Given the description of an element on the screen output the (x, y) to click on. 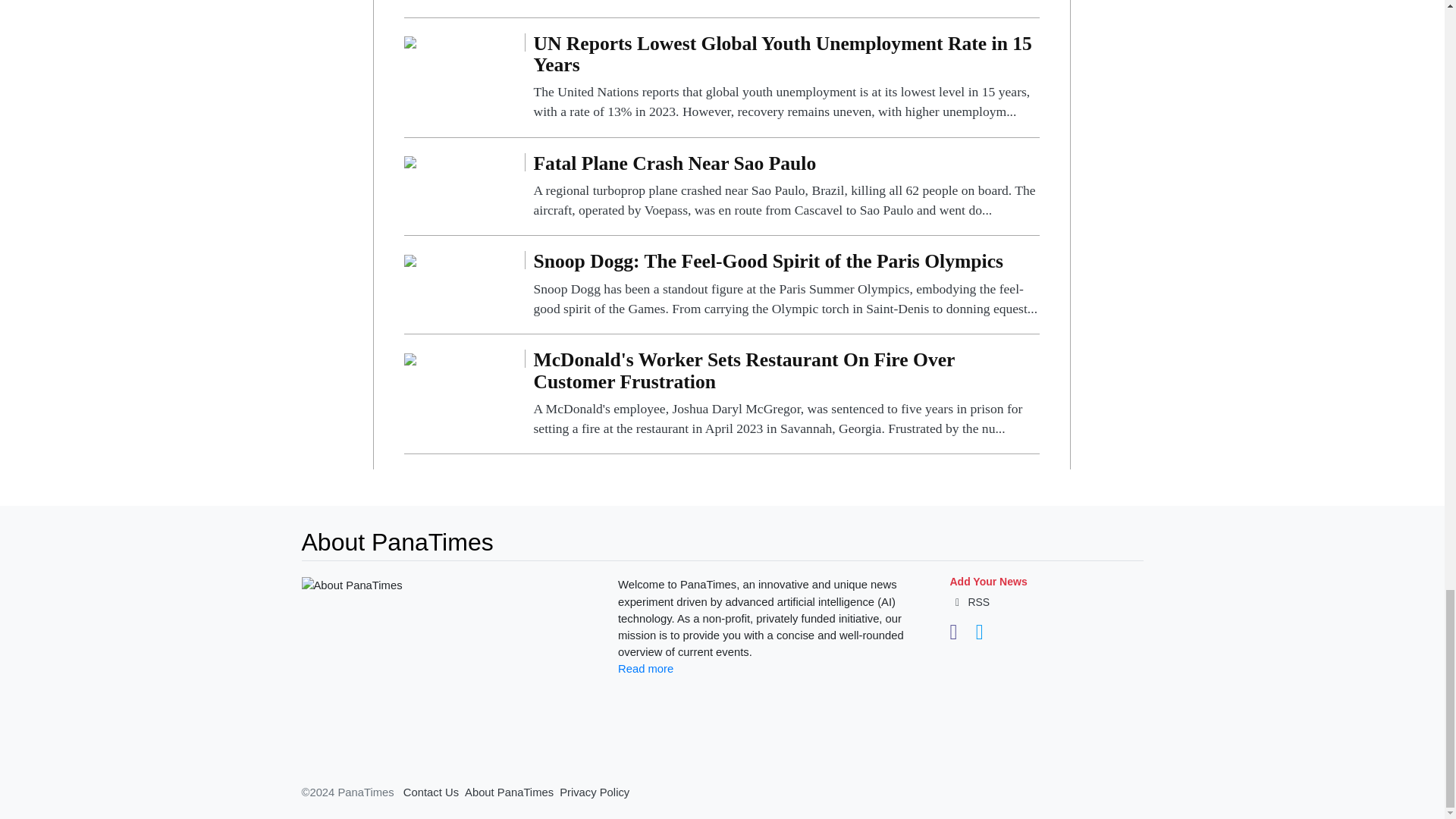
Fatal Plane Crash Near Sao Paulo (410, 161)
Fatal Plane Crash Near Sao Paulo (785, 186)
Read more (644, 668)
UN Reports Lowest Global Youth Unemployment Rate in 15 Years (785, 76)
UN Reports Lowest Global Youth Unemployment Rate in 15 Years (410, 42)
